Given the description of an element on the screen output the (x, y) to click on. 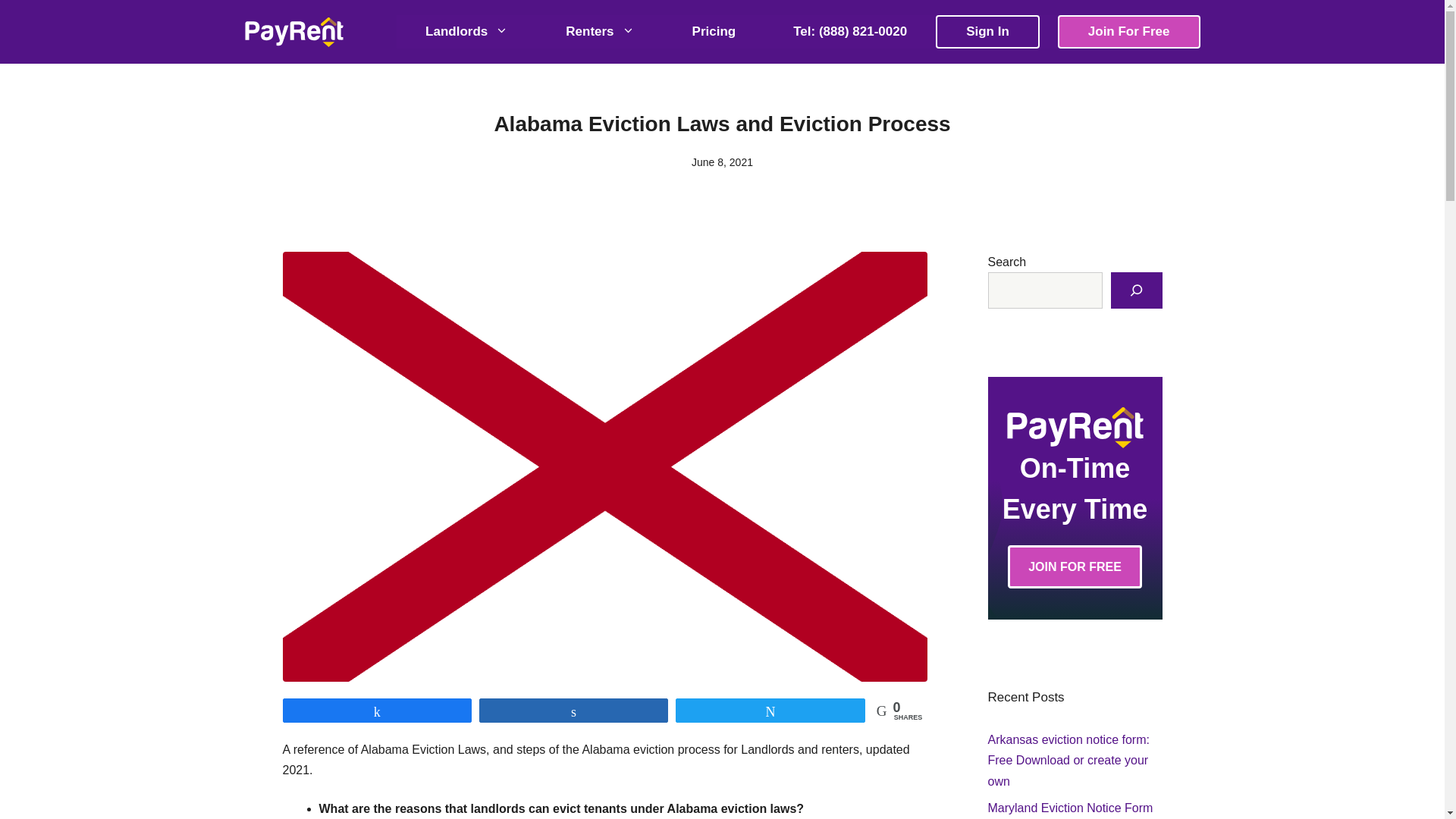
Landlords (466, 31)
Sign In (987, 31)
Join For Free (1128, 31)
Renters (599, 31)
Pricing (714, 31)
